Given the description of an element on the screen output the (x, y) to click on. 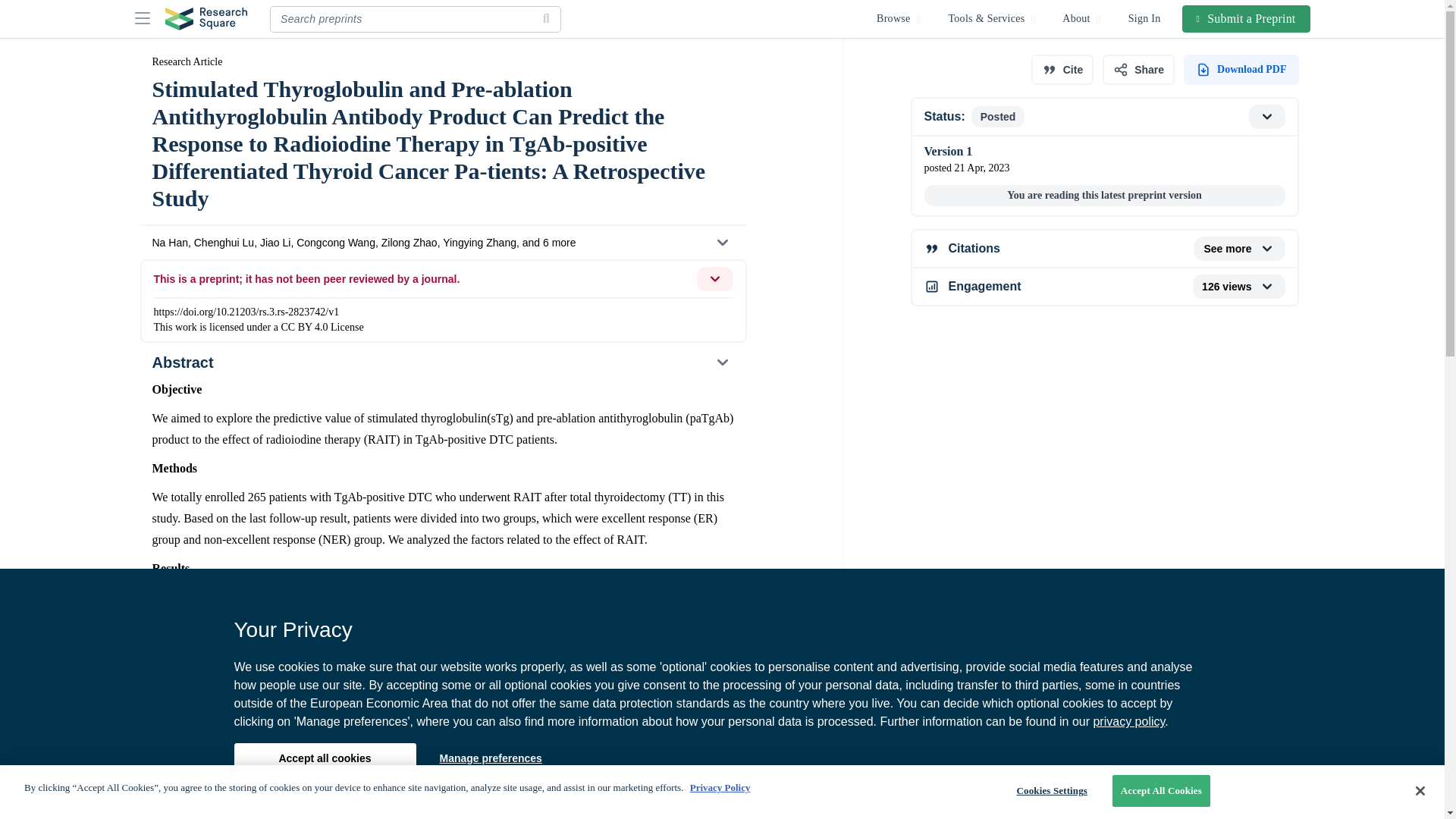
Manage preferences (490, 757)
Accept all cookies (323, 757)
Cite (1061, 69)
Abstract (442, 362)
Submit a Preprint (1246, 18)
privacy policy (1128, 721)
Sign In (1144, 18)
